Given the description of an element on the screen output the (x, y) to click on. 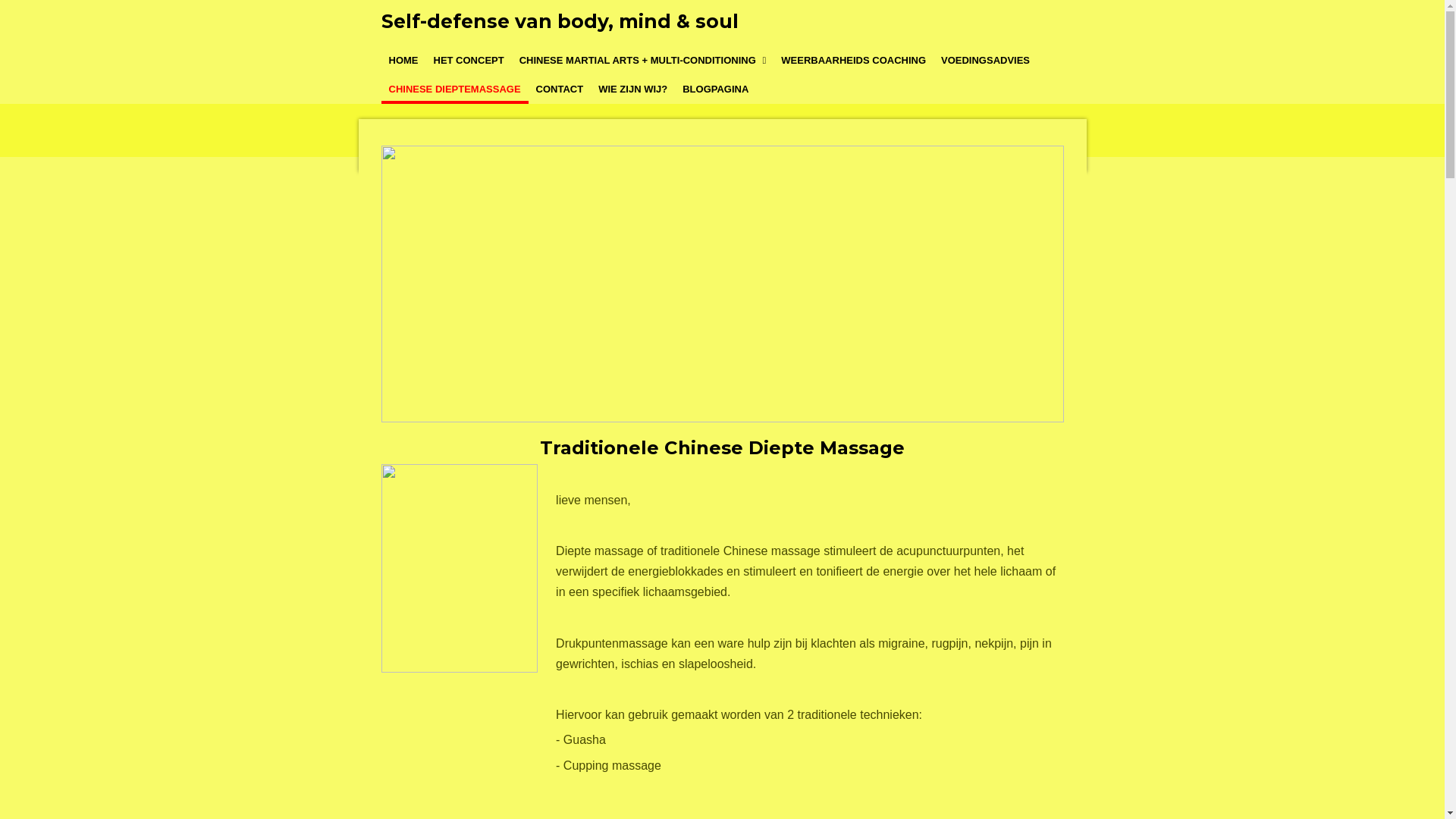
Self-defense van body, mind & soul Element type: text (558, 20)
CHINESE DIEPTEMASSAGE Element type: text (453, 89)
BLOGPAGINA Element type: text (715, 89)
HOME Element type: text (402, 60)
HET CONCEPT Element type: text (468, 60)
VOEDINGSADVIES Element type: text (985, 60)
WEERBAARHEIDS COACHING Element type: text (853, 60)
CONTACT Element type: text (559, 89)
WIE ZIJN WIJ? Element type: text (632, 89)
CHINESE MARTIAL ARTS + MULTI-CONDITIONING Element type: text (642, 60)
